Given the description of an element on the screen output the (x, y) to click on. 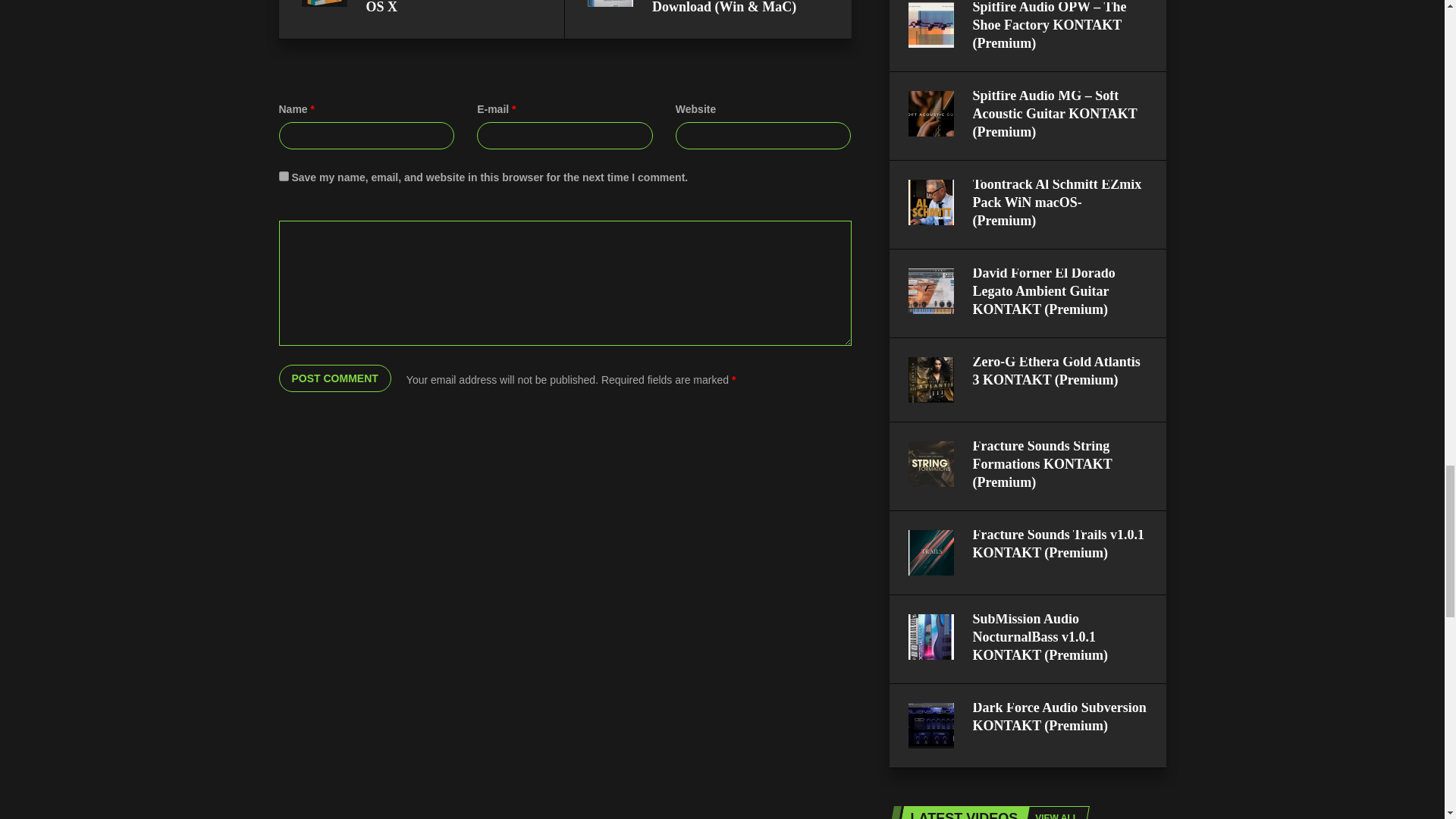
yes (283, 175)
Post comment (335, 378)
